Given the description of an element on the screen output the (x, y) to click on. 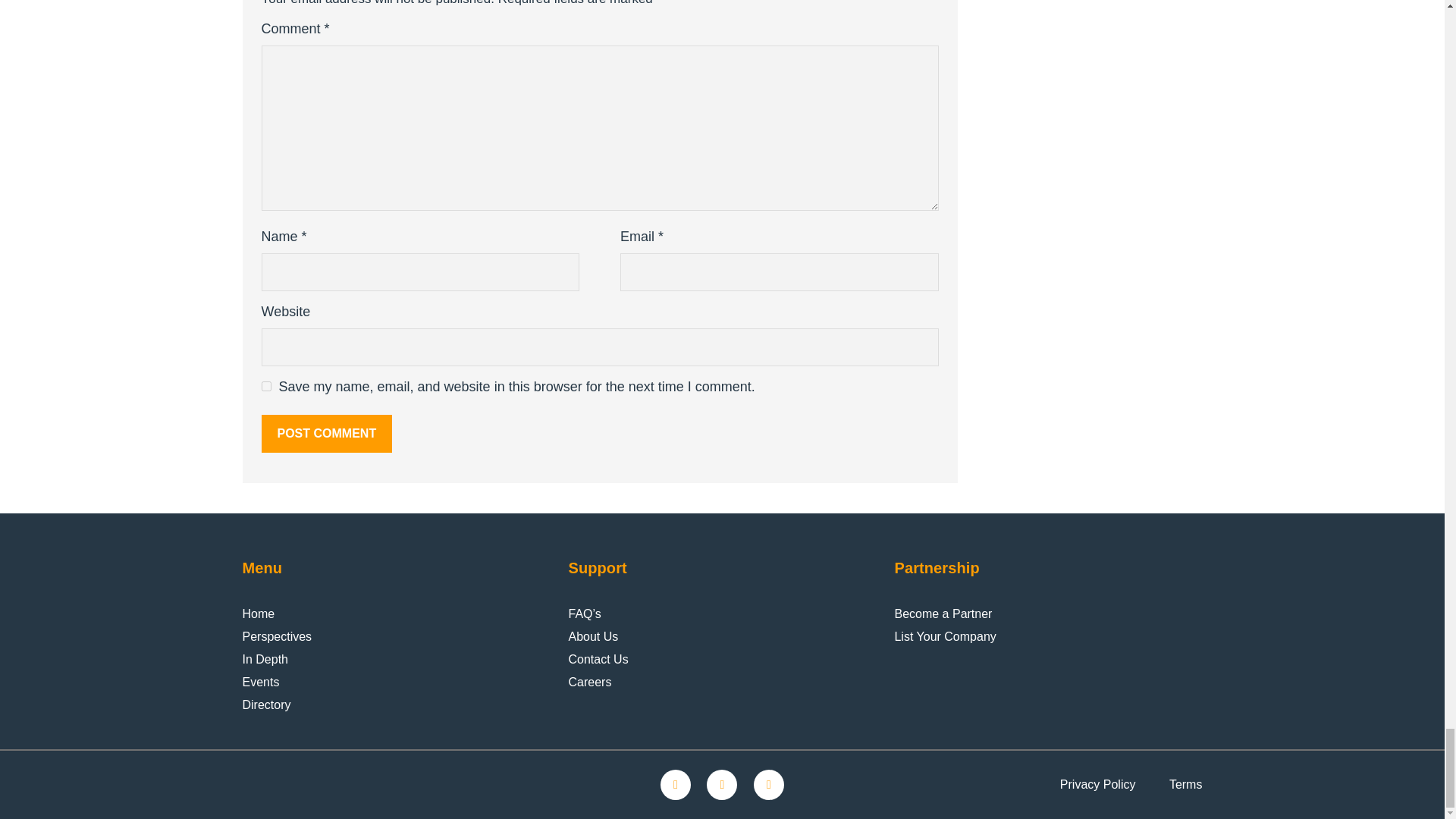
Directory (267, 705)
Post Comment (325, 433)
About Us (592, 637)
In Depth (265, 659)
Home (259, 614)
Events (261, 682)
Perspectives (278, 637)
Post Comment (325, 433)
yes (265, 386)
